Given the description of an element on the screen output the (x, y) to click on. 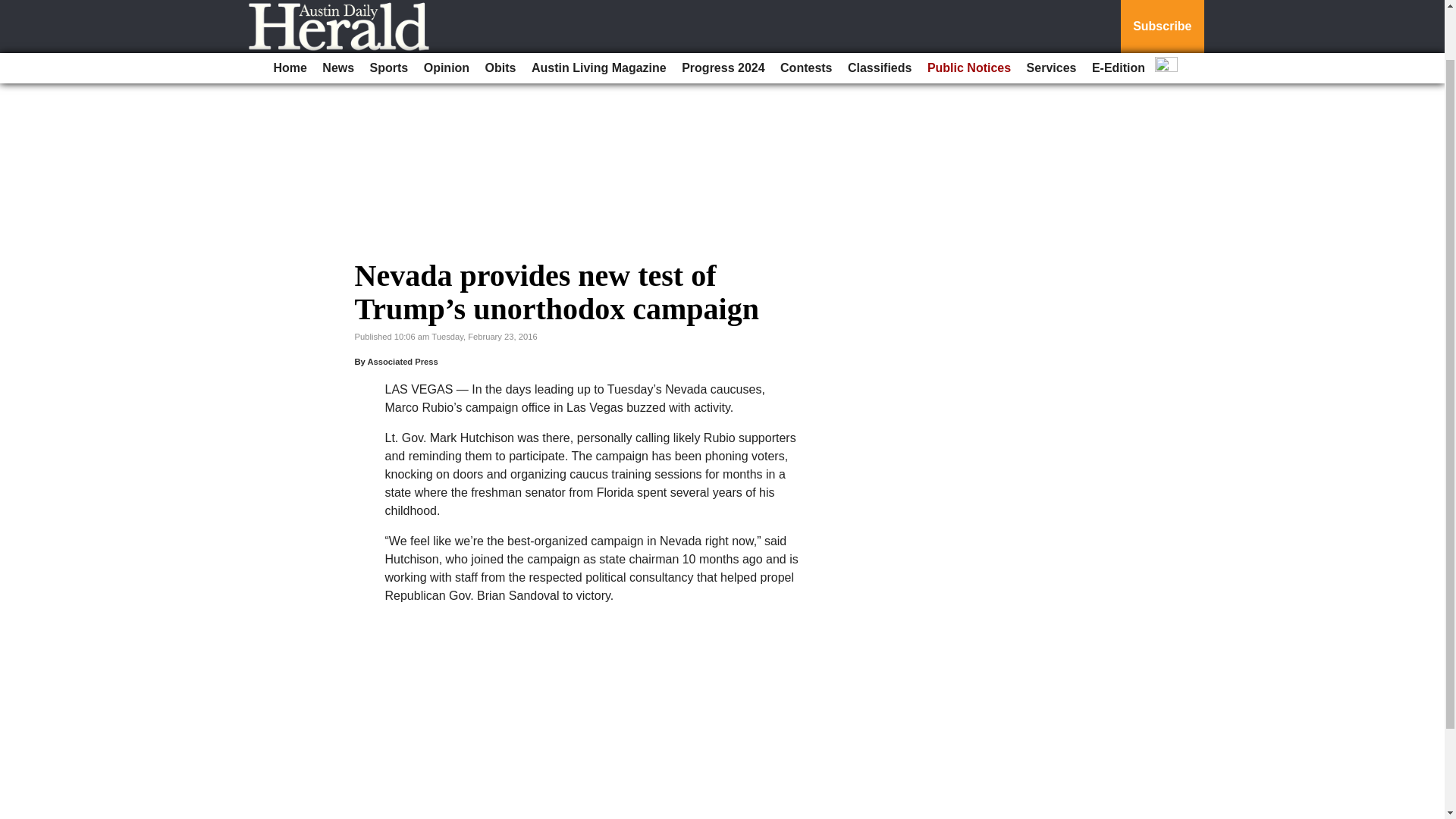
Opinion (446, 11)
Obits (500, 11)
Services (1051, 11)
Classifieds (879, 11)
Sports (389, 11)
Austin Living Magazine (598, 11)
News (337, 11)
Home (289, 11)
Contests (806, 11)
Progress 2024 (722, 11)
